Given the description of an element on the screen output the (x, y) to click on. 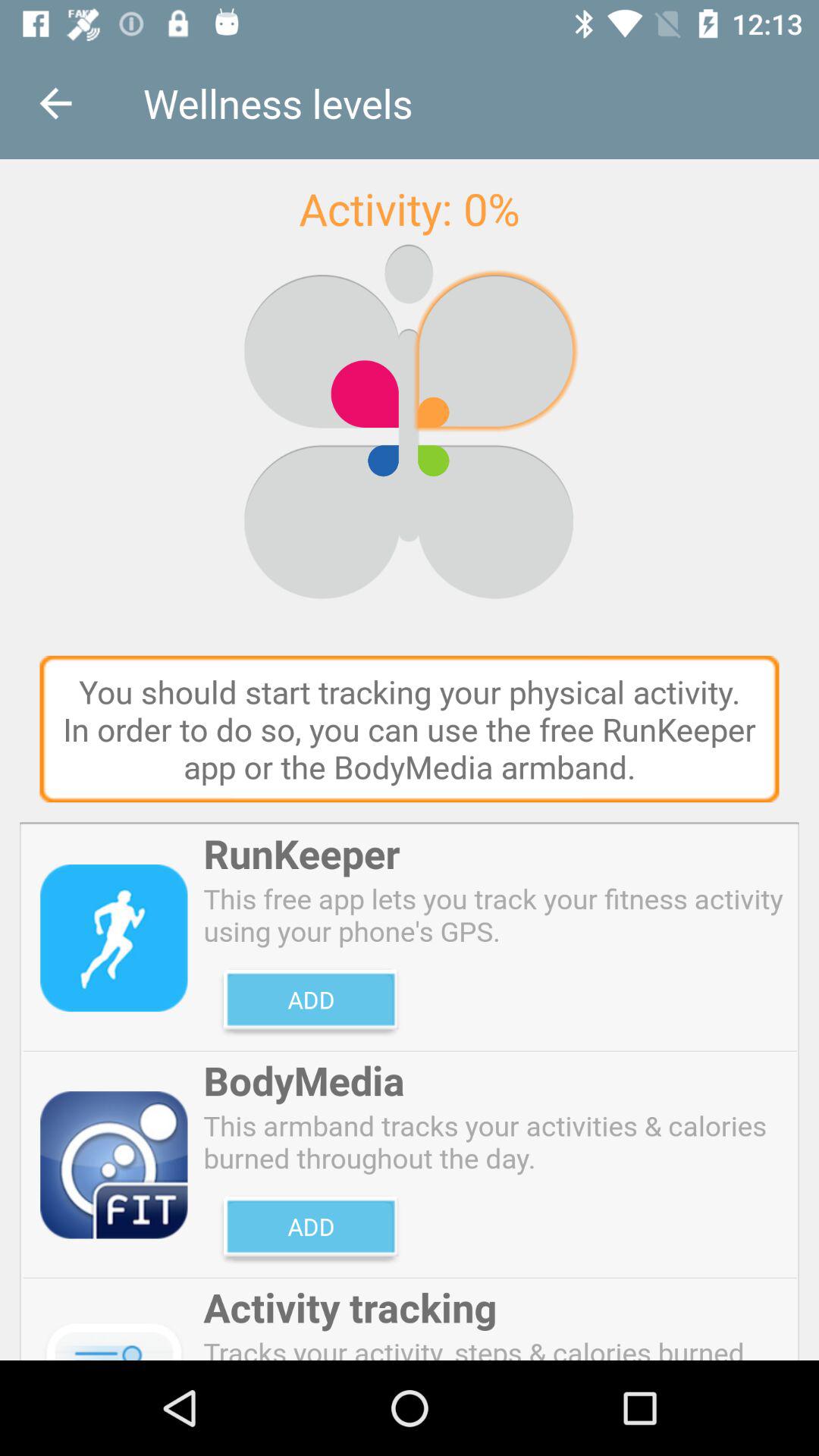
choose the icon above the you should start icon (55, 103)
